Given the description of an element on the screen output the (x, y) to click on. 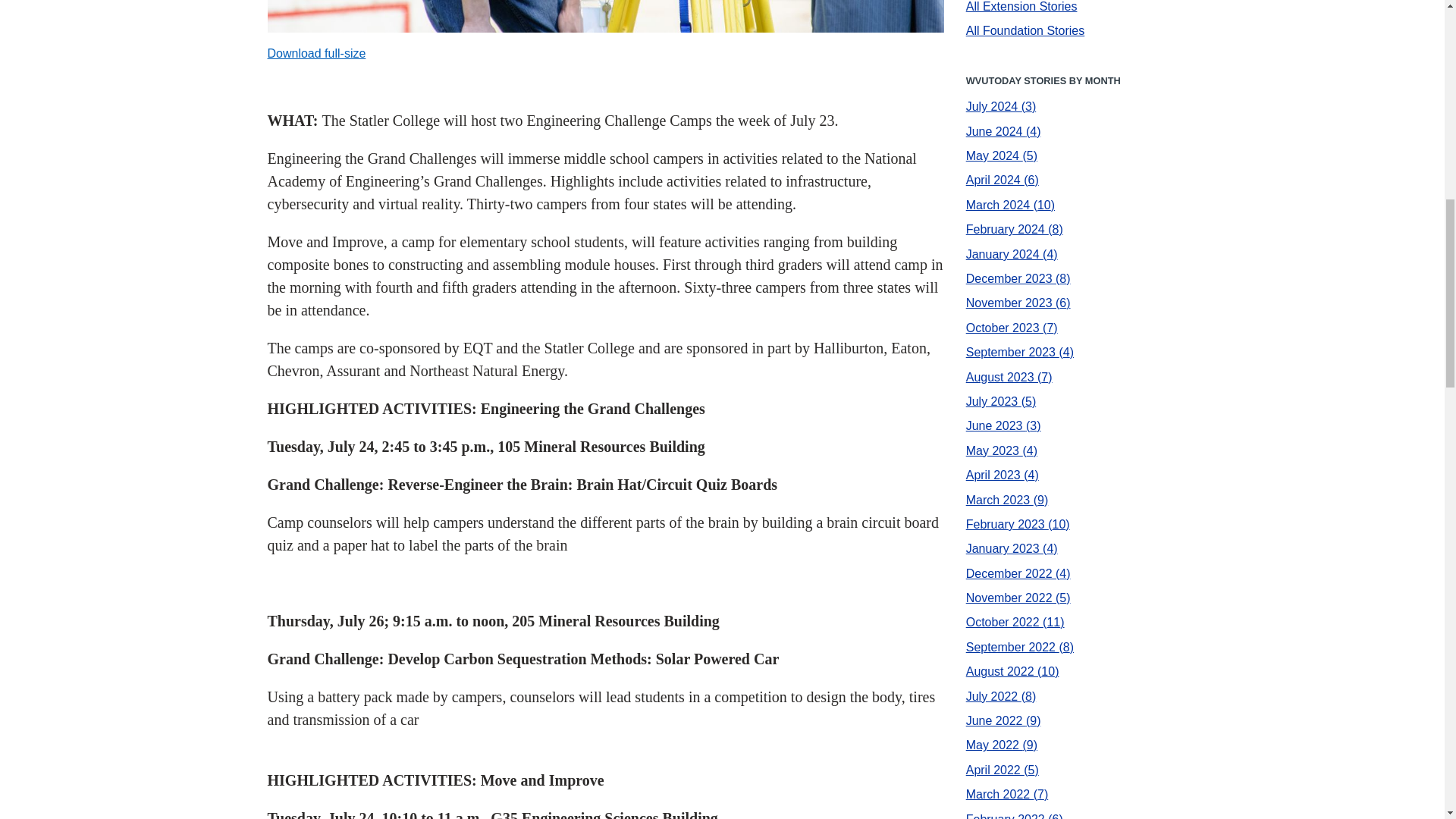
All Extension Stories (1021, 6)
All Foundation Stories (1025, 30)
July 2024 3 (1001, 106)
May 2024 5 (1001, 155)
March 2024 10 (1010, 205)
February 2024 8 (1014, 228)
April 2024 6 (1002, 179)
June 2024 4 (1003, 131)
Download full-size (315, 52)
